Given the description of an element on the screen output the (x, y) to click on. 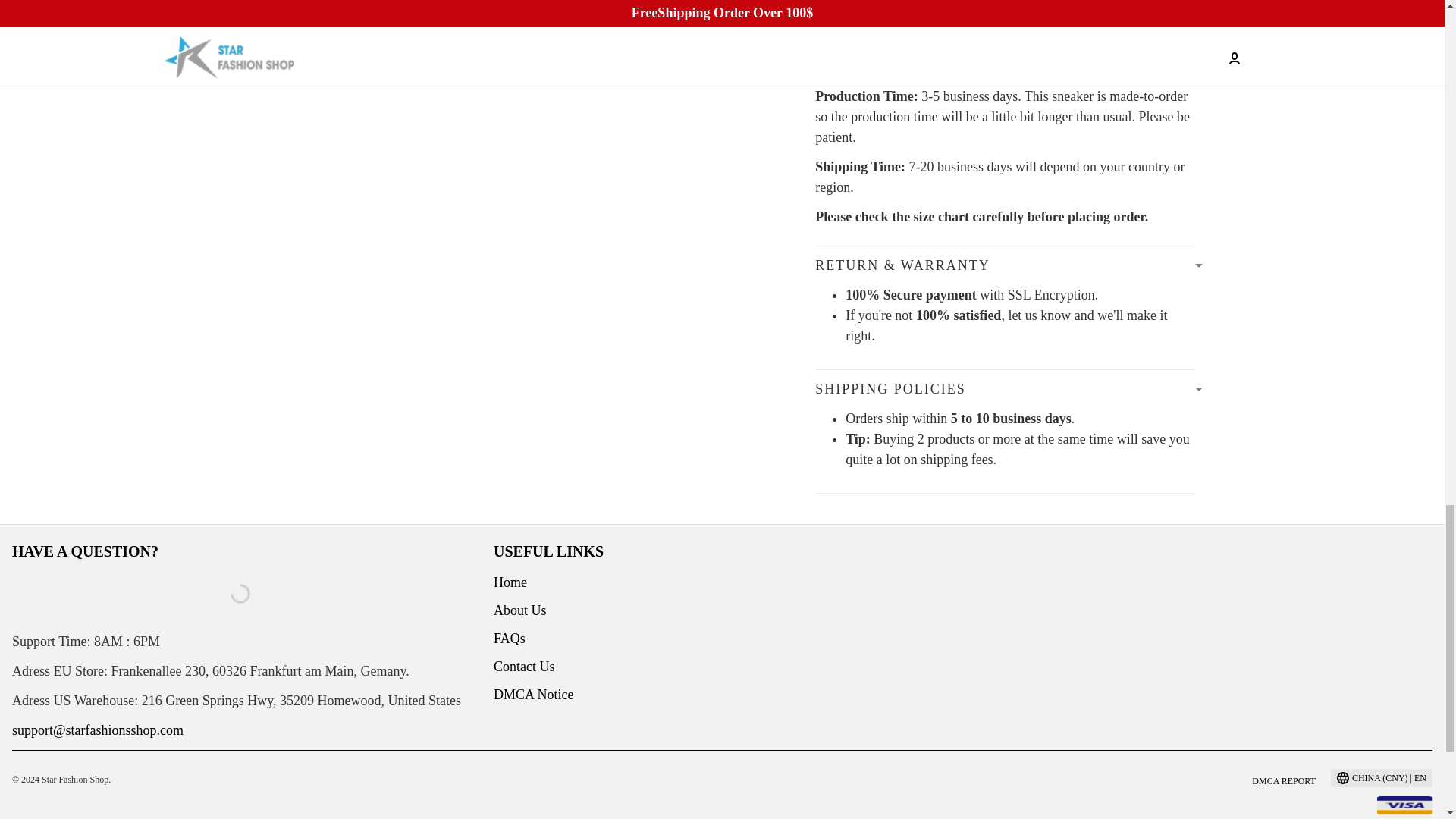
About Us (520, 610)
Home (510, 581)
